Given the description of an element on the screen output the (x, y) to click on. 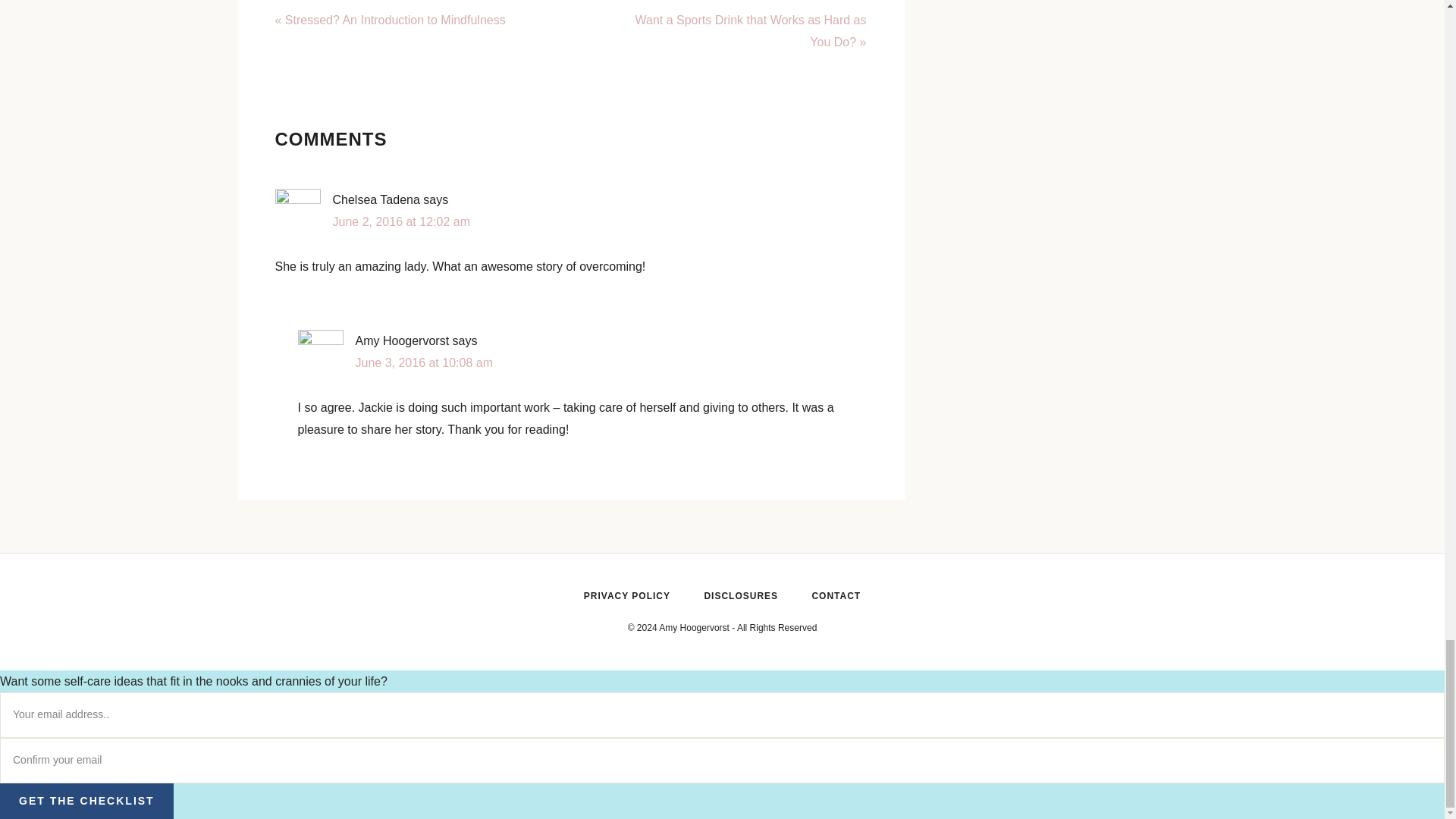
June 2, 2016 at 12:02 am (399, 221)
June 3, 2016 at 10:08 am (423, 362)
